Given the description of an element on the screen output the (x, y) to click on. 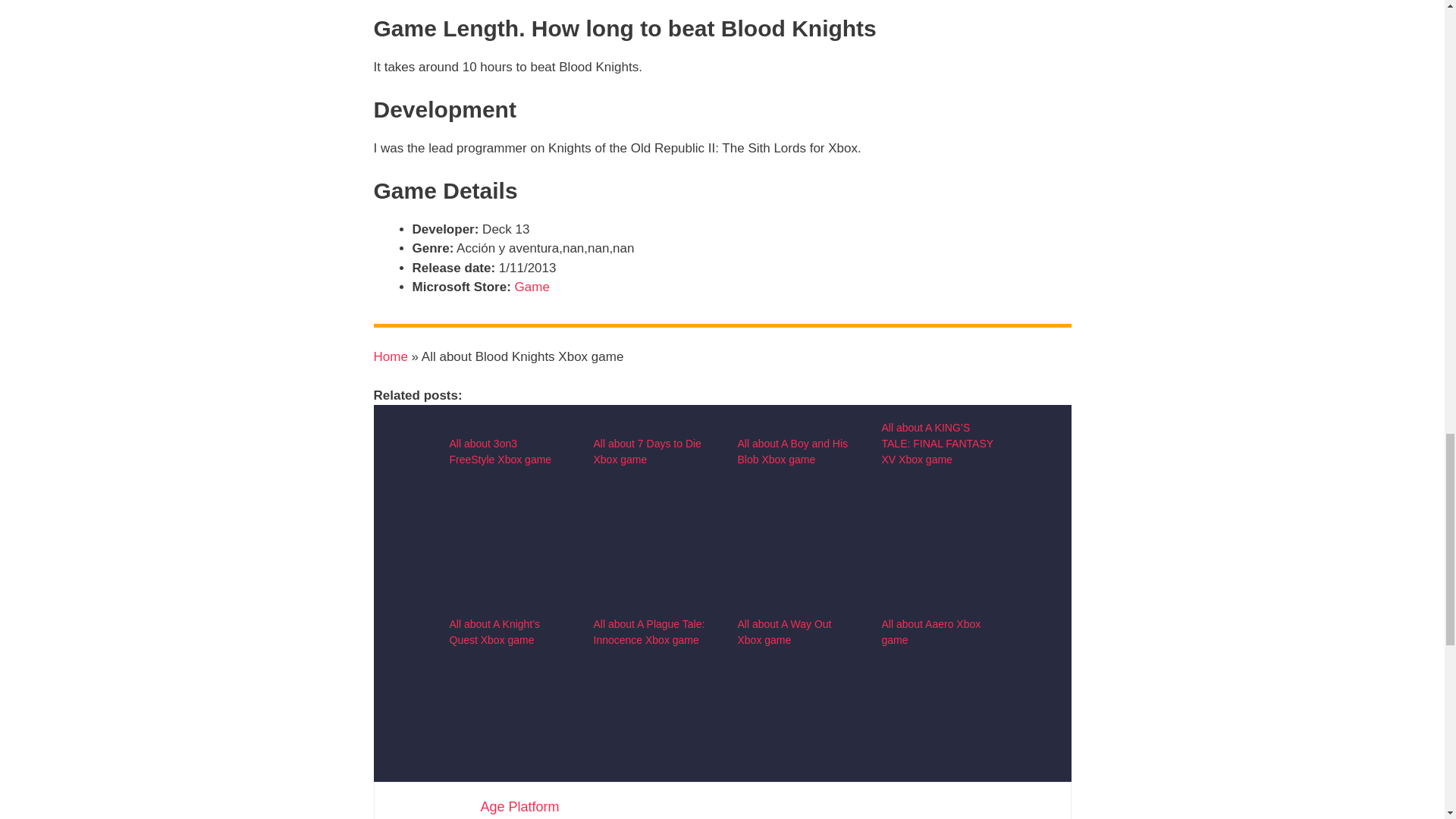
All about Aaero Xbox game (937, 785)
Home (389, 355)
All about Aaero Xbox game (929, 632)
All about A Way Out Xbox game (793, 785)
Age Platform (519, 806)
All about A Boy and His Blob Xbox game (791, 451)
All about A Plague Tale: Innocence Xbox game (648, 632)
All about A Knight's Quest Xbox game (505, 785)
All about A Way Out Xbox game (783, 632)
All about 3on3 FreeStyle Xbox game (499, 451)
